Given the description of an element on the screen output the (x, y) to click on. 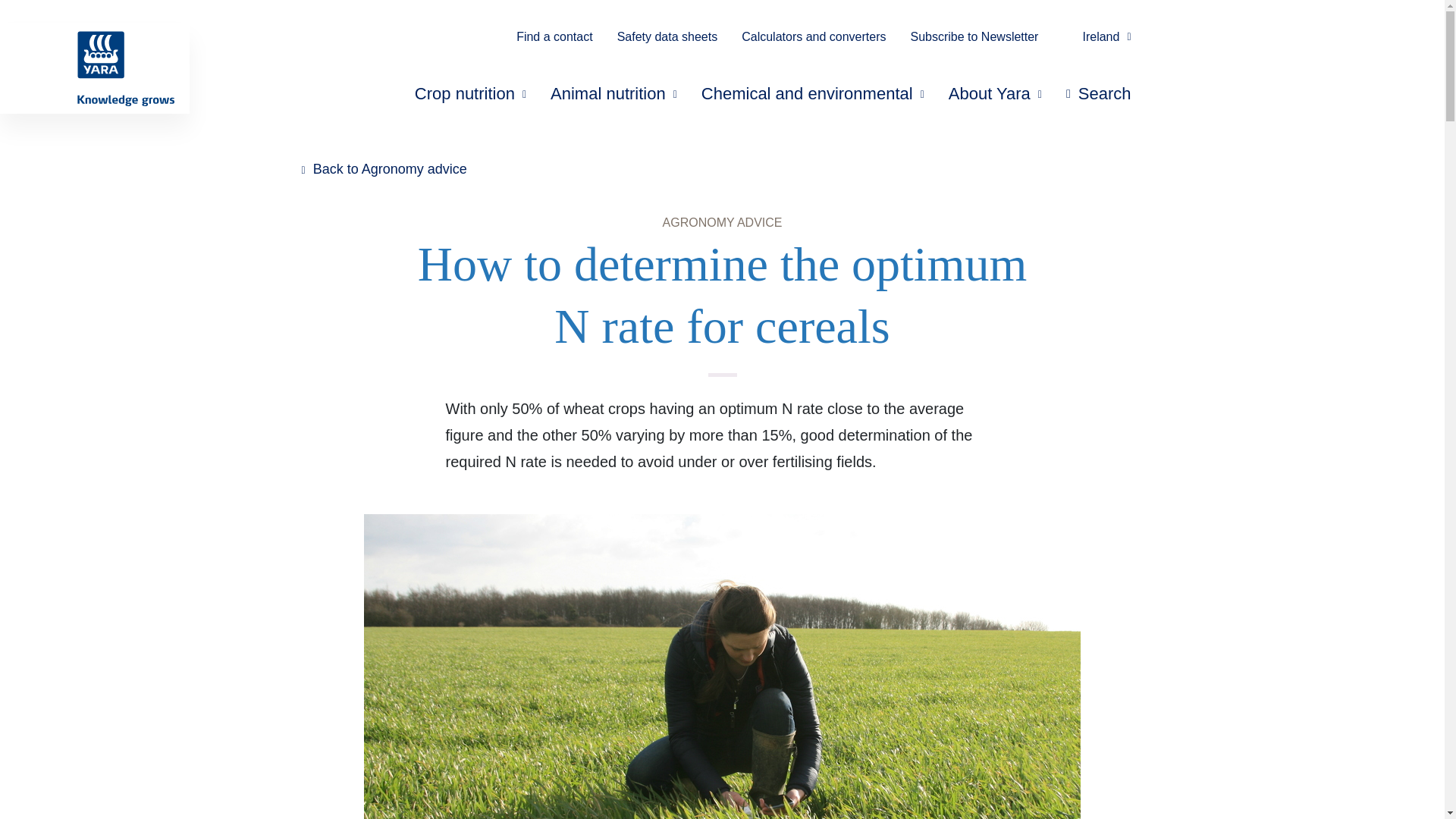
Yara Ireland (87, 68)
Find a contact (554, 37)
Ireland (1096, 37)
Safety data sheets (667, 37)
Calculators and converters (813, 37)
Change Location (1096, 37)
Subscribe to Newsletter (974, 37)
Crop nutrition (469, 95)
